Given the description of an element on the screen output the (x, y) to click on. 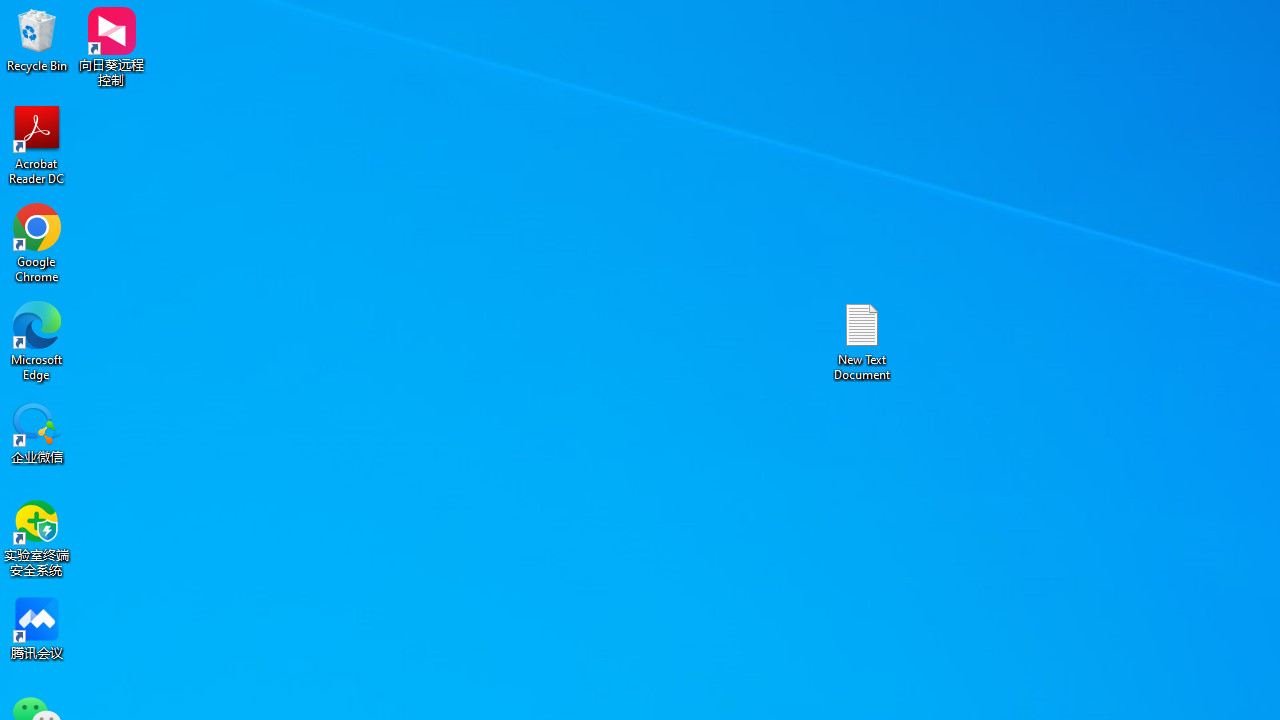
Google Chrome (37, 242)
Microsoft Edge (37, 340)
New Text Document (861, 340)
Recycle Bin (37, 39)
Acrobat Reader DC (37, 144)
